Given the description of an element on the screen output the (x, y) to click on. 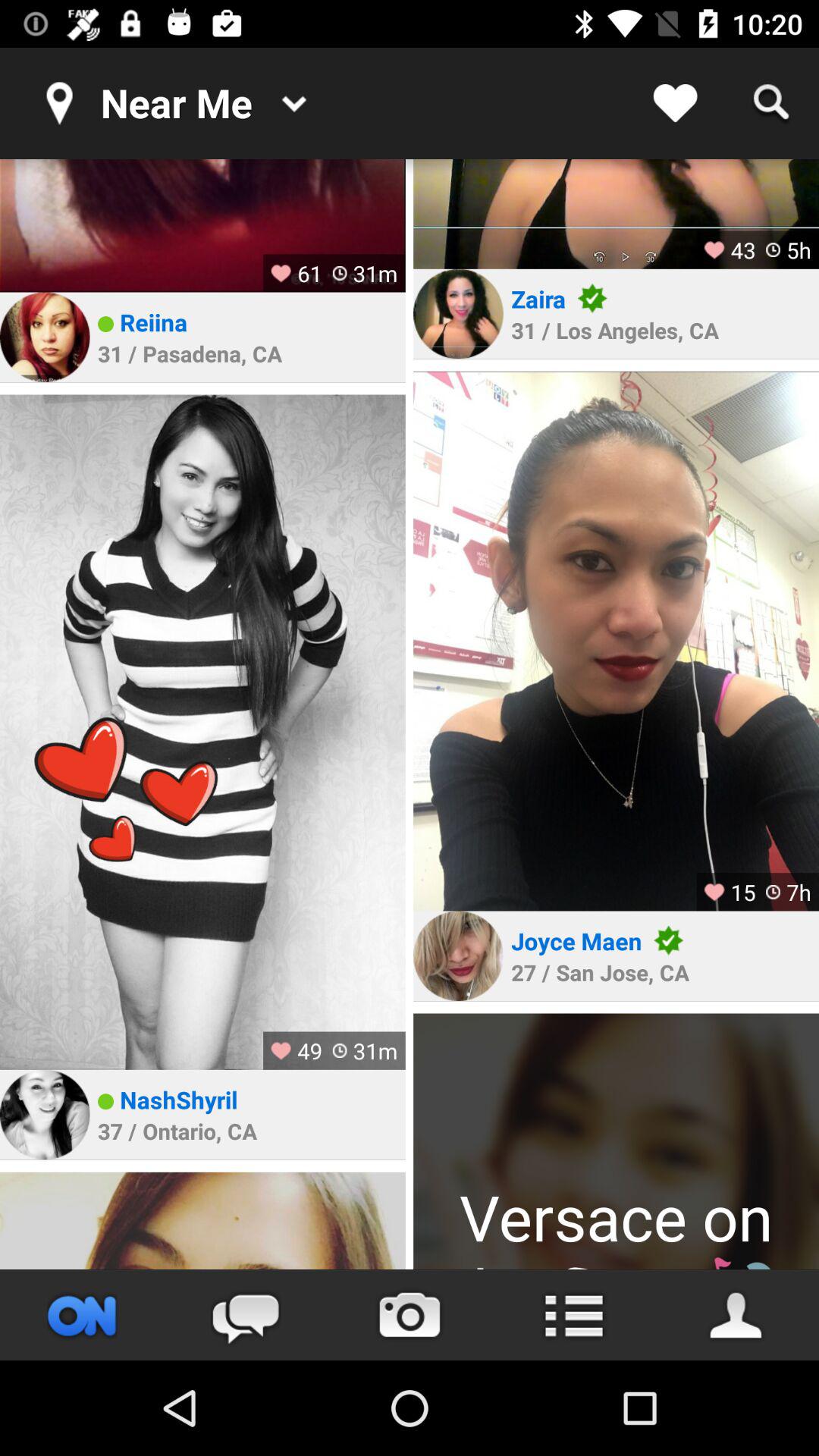
take photo (409, 1315)
